Given the description of an element on the screen output the (x, y) to click on. 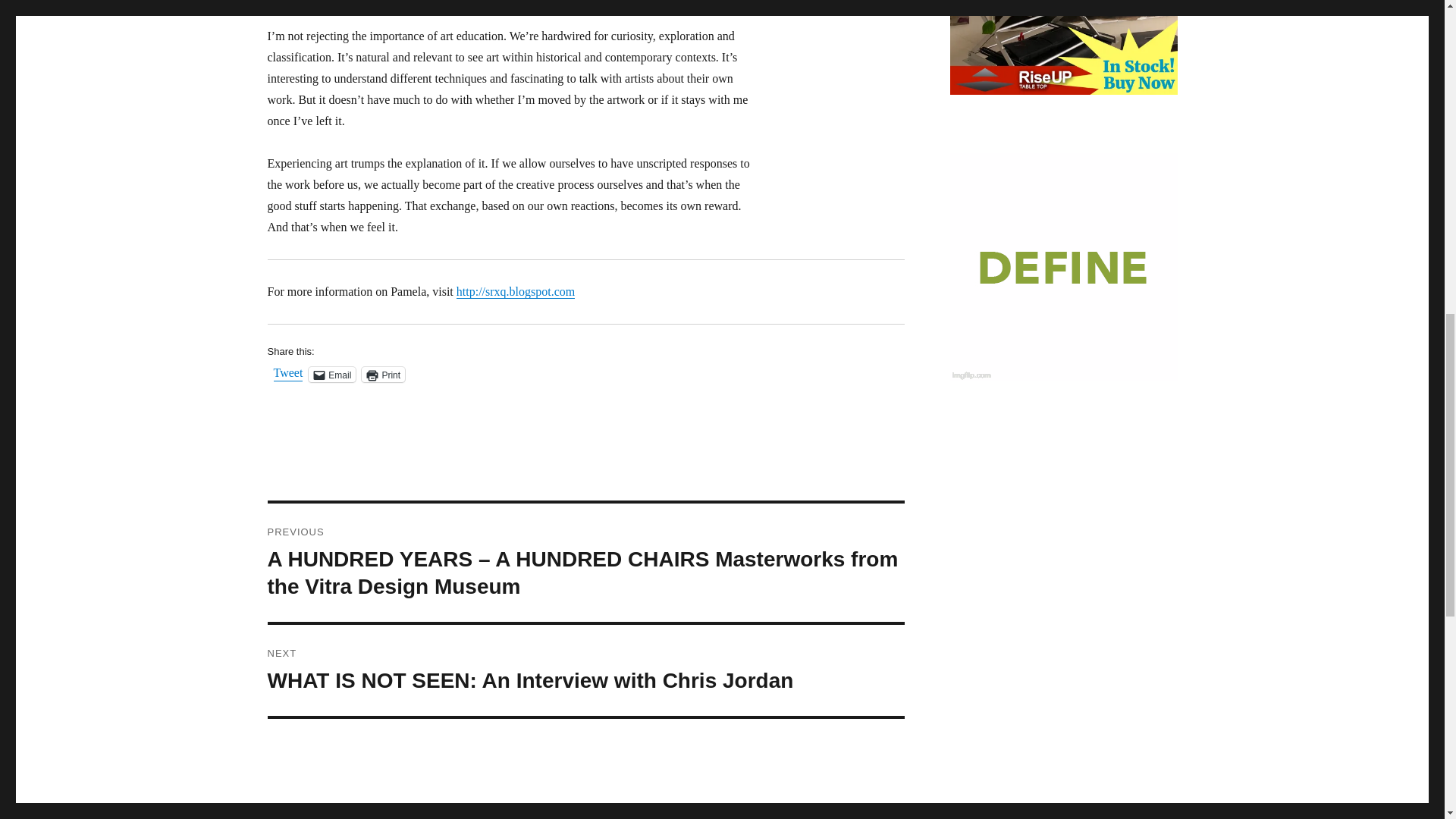
Email (331, 374)
Click to print (382, 374)
Click to email a link to a friend (331, 374)
Tweet (287, 373)
Pamela Beck LinkIn (516, 291)
Print (382, 374)
Sarasota Web Design (1062, 266)
